Given the description of an element on the screen output the (x, y) to click on. 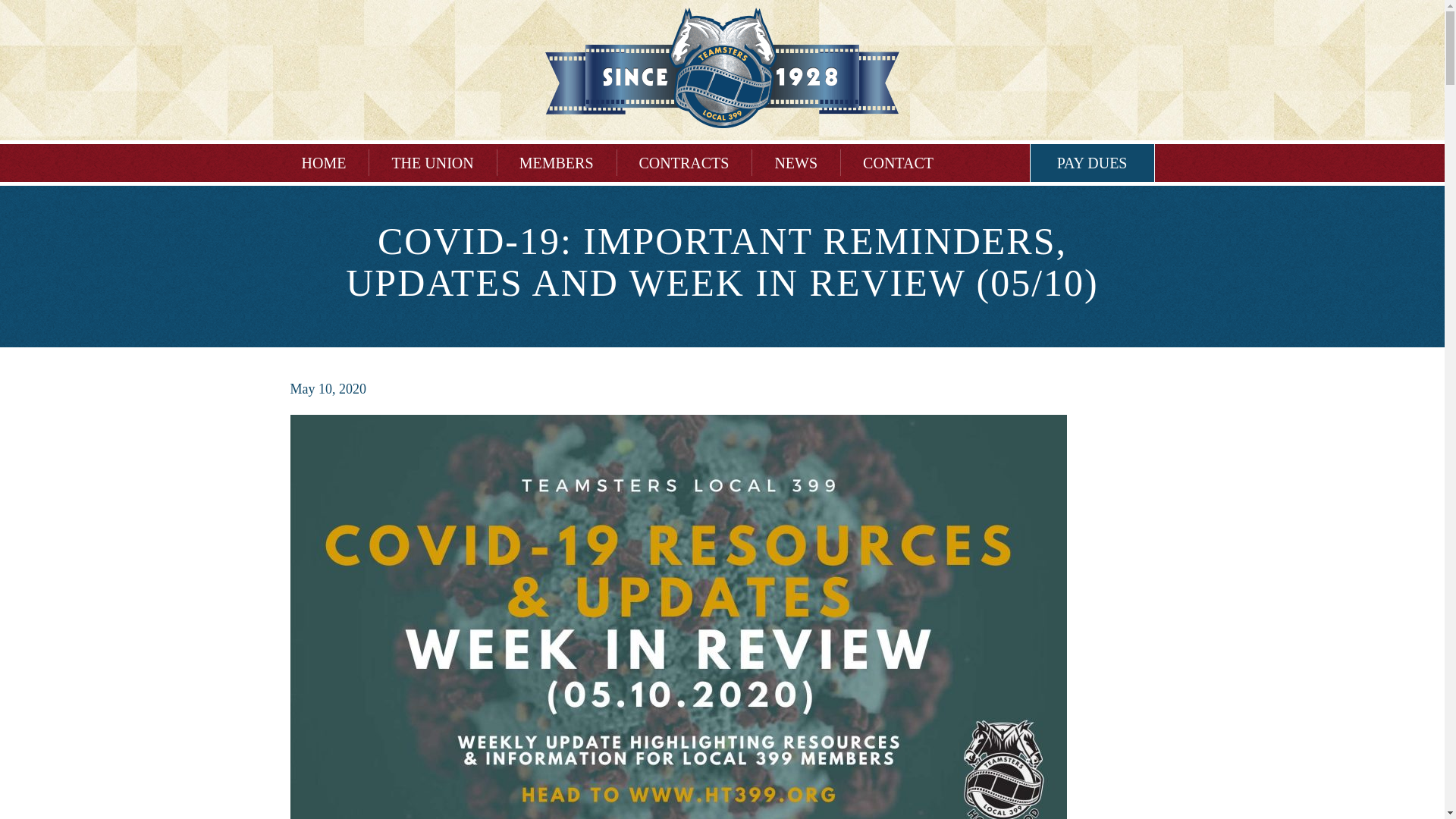
HOME (322, 162)
PAY DUES (1091, 162)
THE UNION (432, 162)
MEMBERS (556, 162)
NEWS (795, 162)
CONTRACTS (684, 162)
Teamsters Local 399 Hollywood (721, 67)
CONTACT (897, 162)
